Given the description of an element on the screen output the (x, y) to click on. 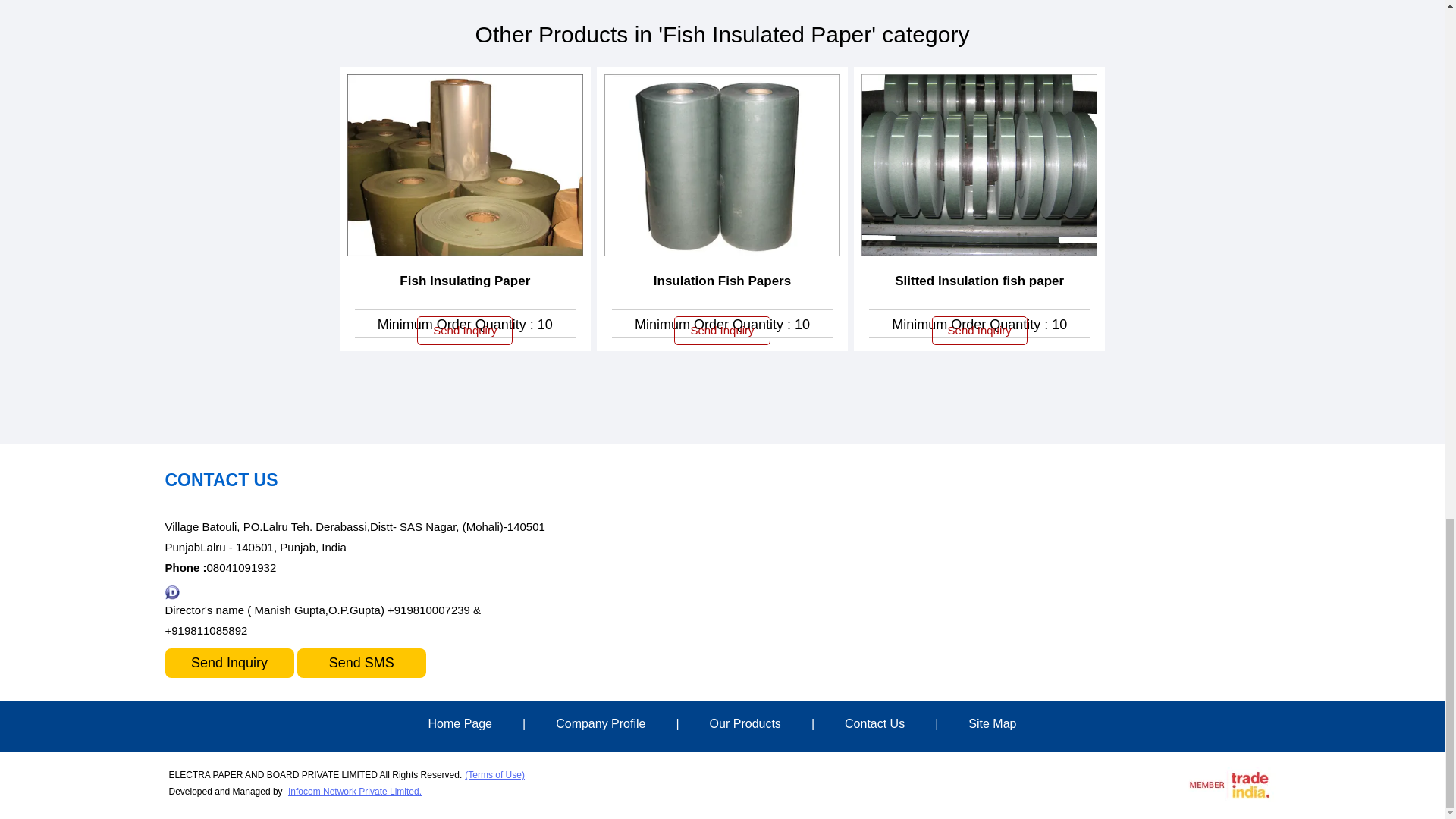
Accepts only Domestic Inquiries (172, 592)
Fish Insulating Paper (463, 280)
Send Inquiry (722, 330)
Send Inquiry (979, 330)
Insulation Fish Papers (721, 280)
Slitted Insulation fish paper (979, 280)
Send Inquiry (464, 330)
